Given the description of an element on the screen output the (x, y) to click on. 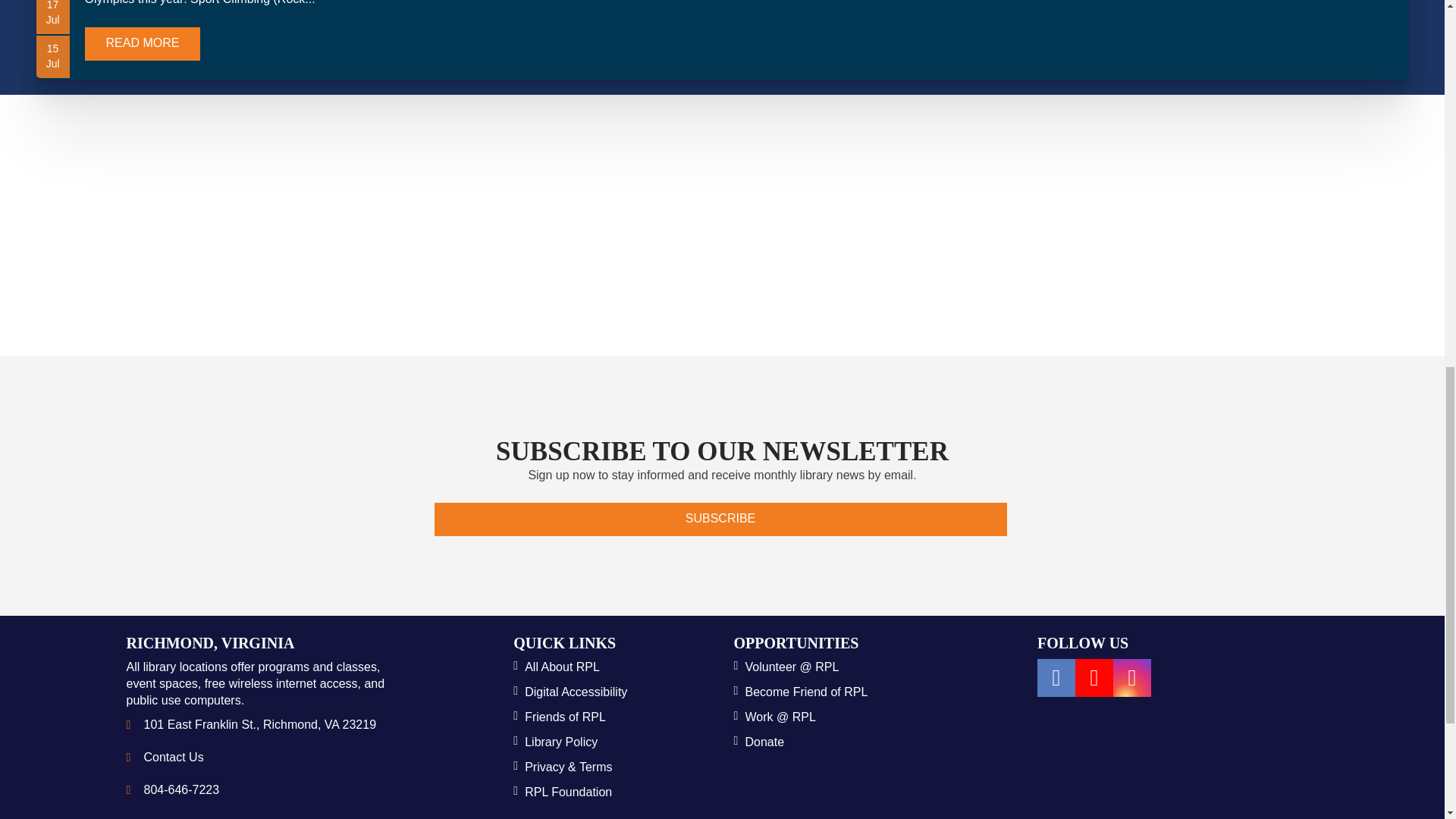
Richmond Public Library's YouTube Channel (1094, 677)
Richmond Public Library Contact Information (173, 757)
Richmond Public Library's Instagram (1132, 677)
Main Library Reference Desk (181, 789)
City of Richmond website (1070, 760)
Richmond Public Library's Facebook Page (1055, 677)
